Given the description of an element on the screen output the (x, y) to click on. 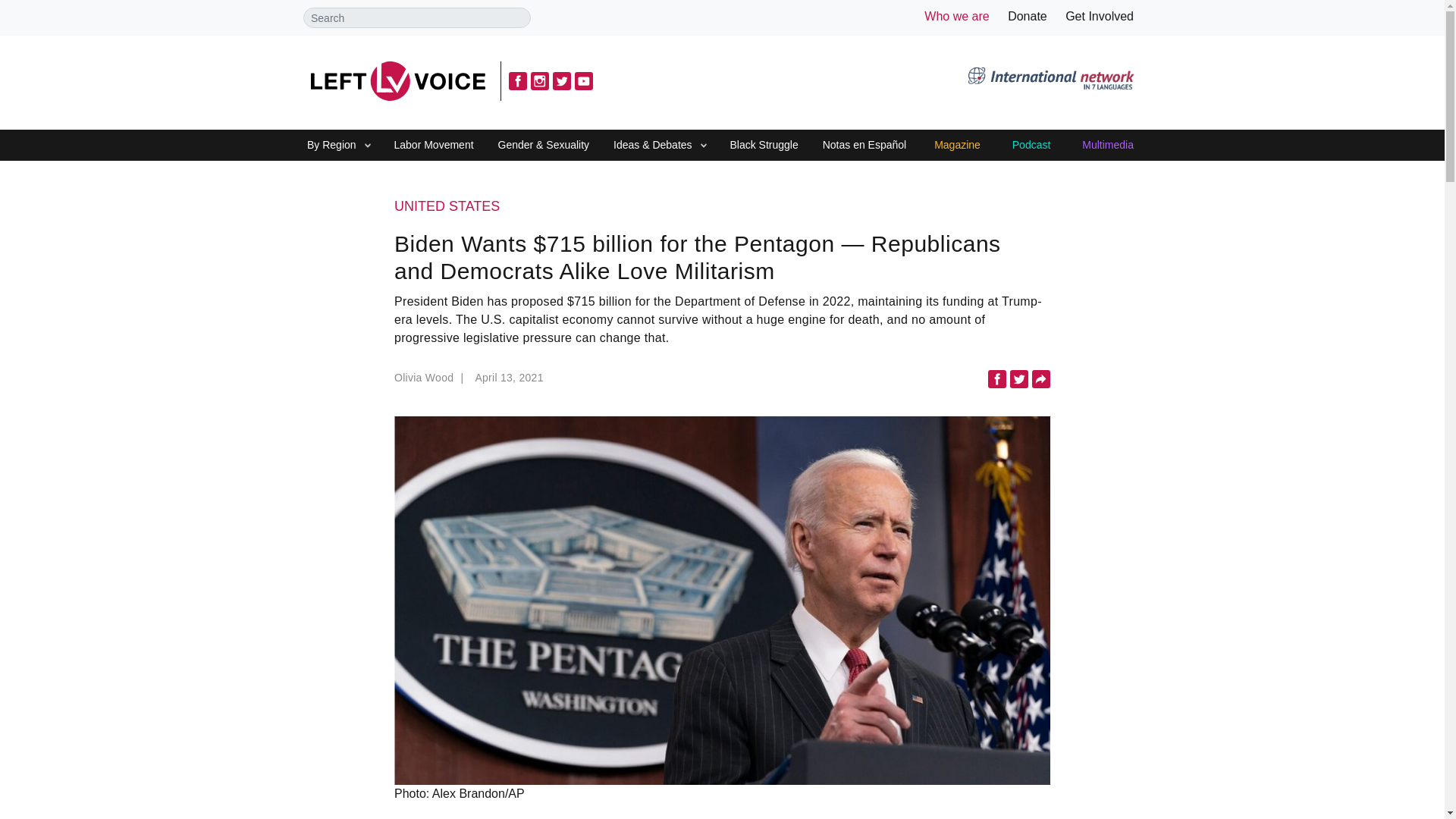
Podcast (1031, 145)
Multimedia (1107, 145)
By Region (330, 145)
Who we are (956, 15)
Magazine (957, 145)
Donate (1027, 15)
Left Voice (397, 80)
Get Involved (1099, 15)
International Network (1050, 80)
Labor Movement (433, 145)
Black Struggle (763, 145)
UNITED STATES (721, 207)
Olivia Wood (430, 381)
